Given the description of an element on the screen output the (x, y) to click on. 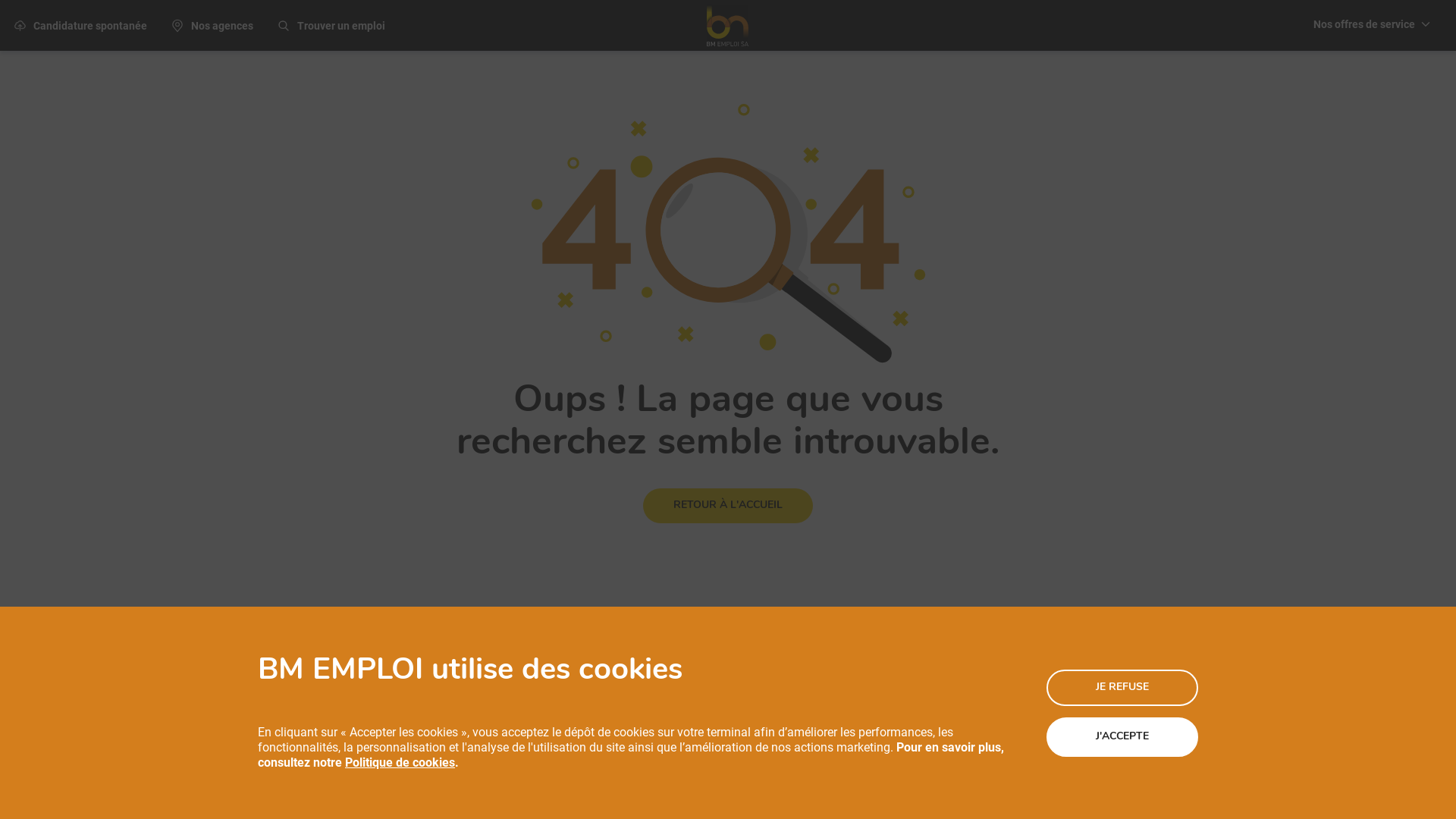
Contact Element type: text (930, 676)
Nos offres Element type: text (482, 676)
J'ACCEPTE Element type: text (1122, 736)
CGU Element type: text (762, 676)
Trouver un emploi Element type: text (330, 24)
JE REFUSE Element type: text (1122, 686)
Nos offres de service Element type: text (1372, 25)
BM EMPLOI Element type: hover (727, 25)
Politique de cookies Element type: text (400, 762)
Nos agences Element type: text (211, 24)
404 Element type: hover (727, 240)
